Given the description of an element on the screen output the (x, y) to click on. 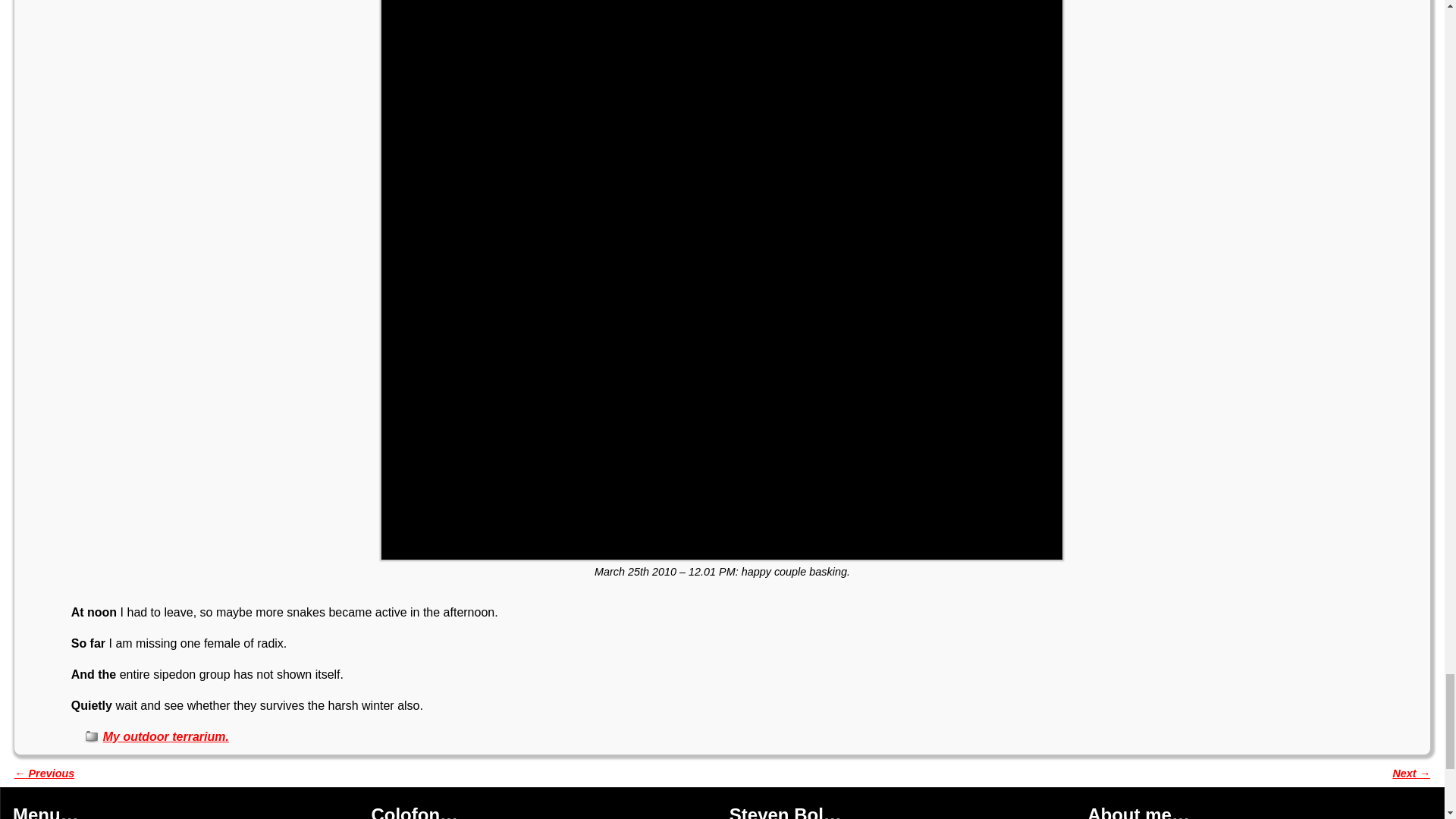
My outdoor terrarium. (165, 736)
